Given the description of an element on the screen output the (x, y) to click on. 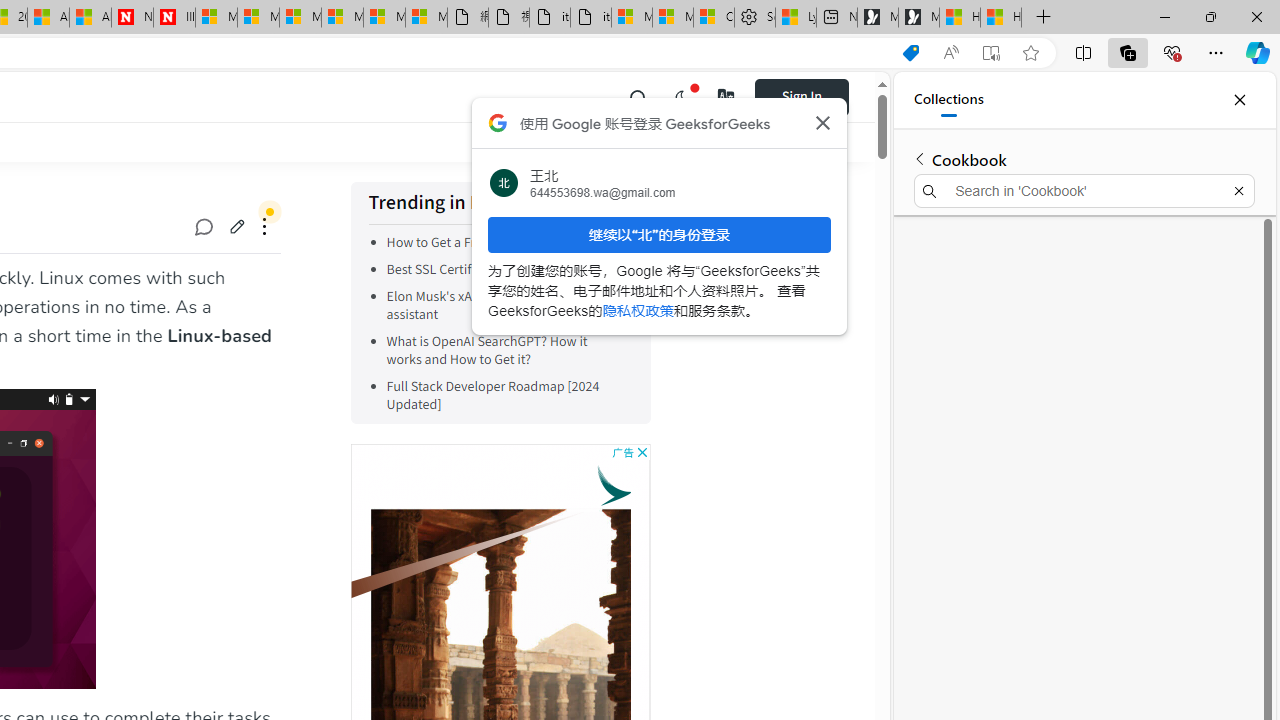
search (638, 96)
What is OpenAI SearchGPT? How it works and How to Get it? (486, 350)
Enter Immersive Reader (F9) (991, 53)
Newsweek - News, Analysis, Politics, Business, Technology (132, 17)
Consumer Health Data Privacy Policy (713, 17)
Elon Musk's xAI releases Grok-2 AI assistant (505, 306)
itconcepthk.com/projector_solutions.mp4 (590, 17)
How to Get a Free SSL Certificate (505, 242)
